Given the description of an element on the screen output the (x, y) to click on. 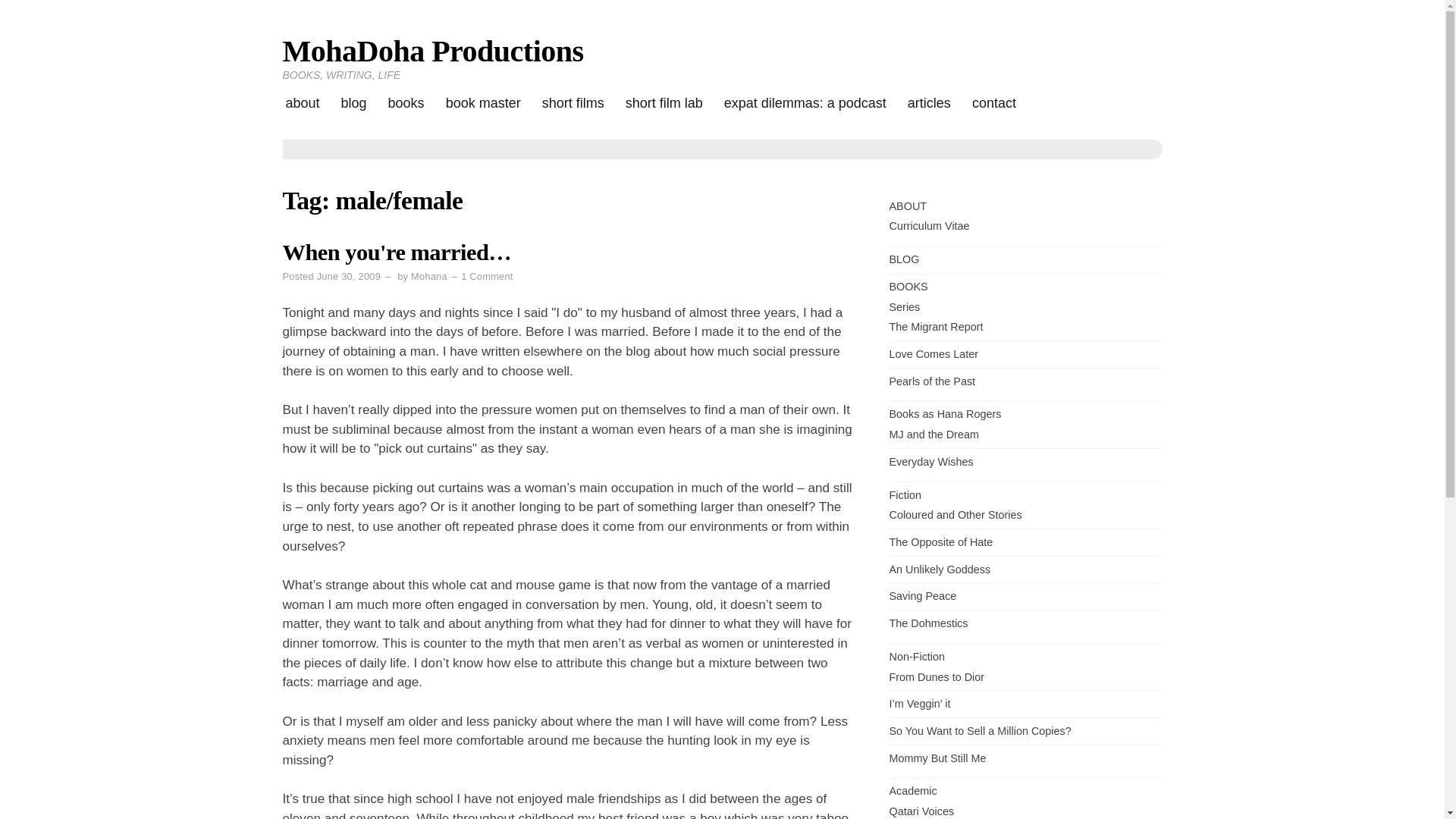
about (301, 103)
short films (572, 103)
book master (483, 103)
books (406, 103)
MohaDoha Productions (432, 50)
blog (353, 103)
